Given the description of an element on the screen output the (x, y) to click on. 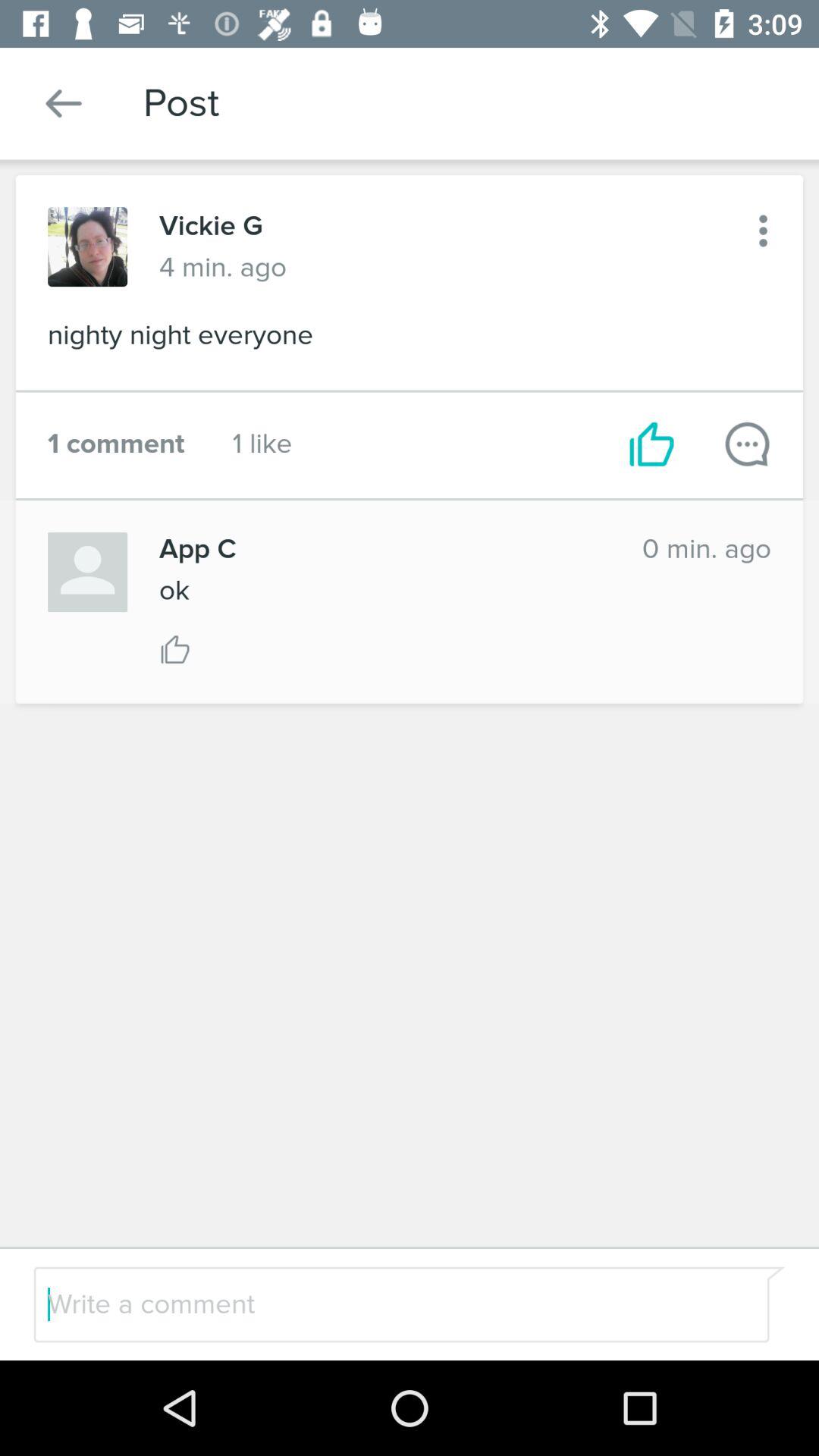
open chat dialog (747, 444)
